Given the description of an element on the screen output the (x, y) to click on. 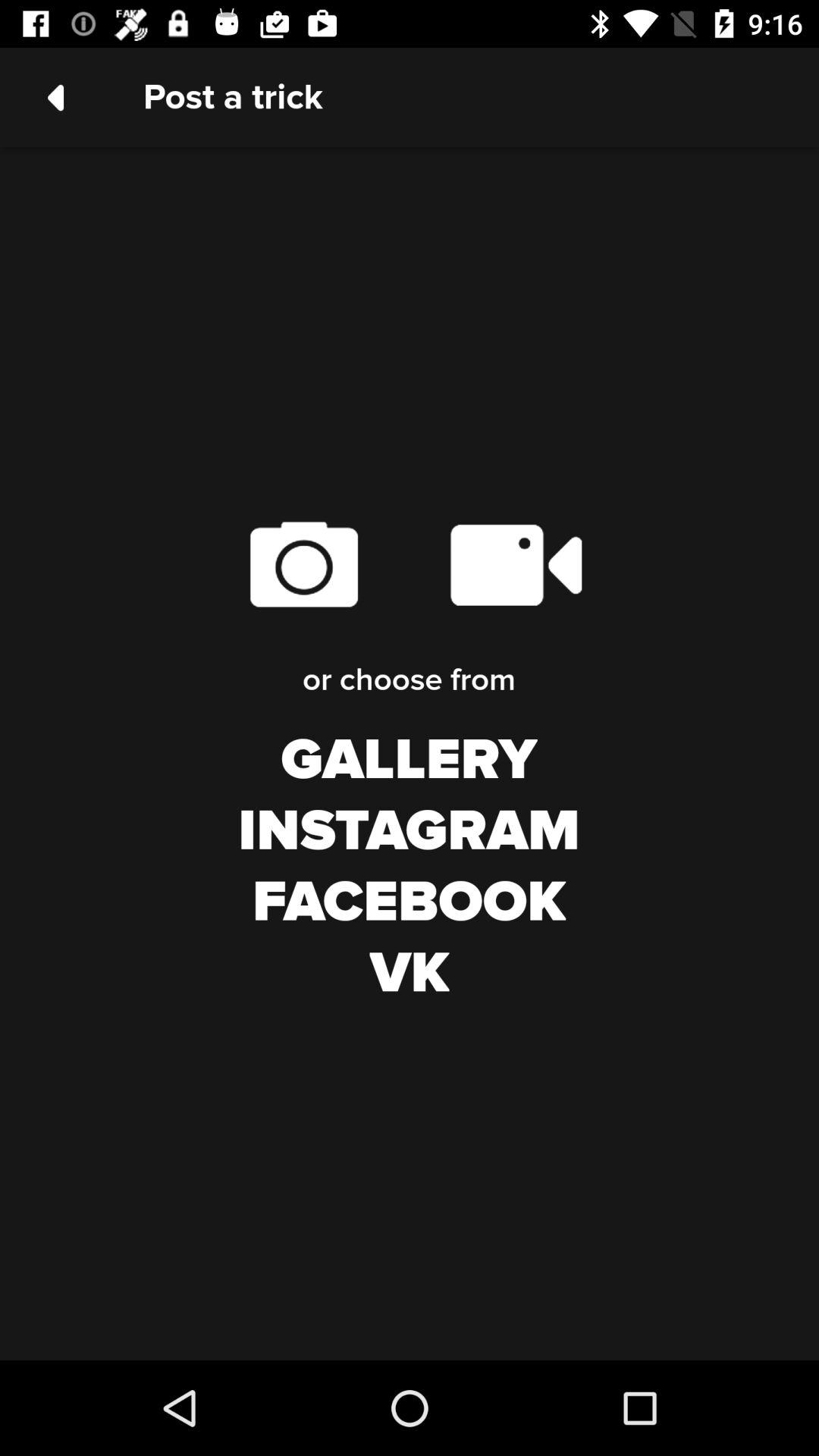
choose icon to the left of post a trick item (55, 97)
